Given the description of an element on the screen output the (x, y) to click on. 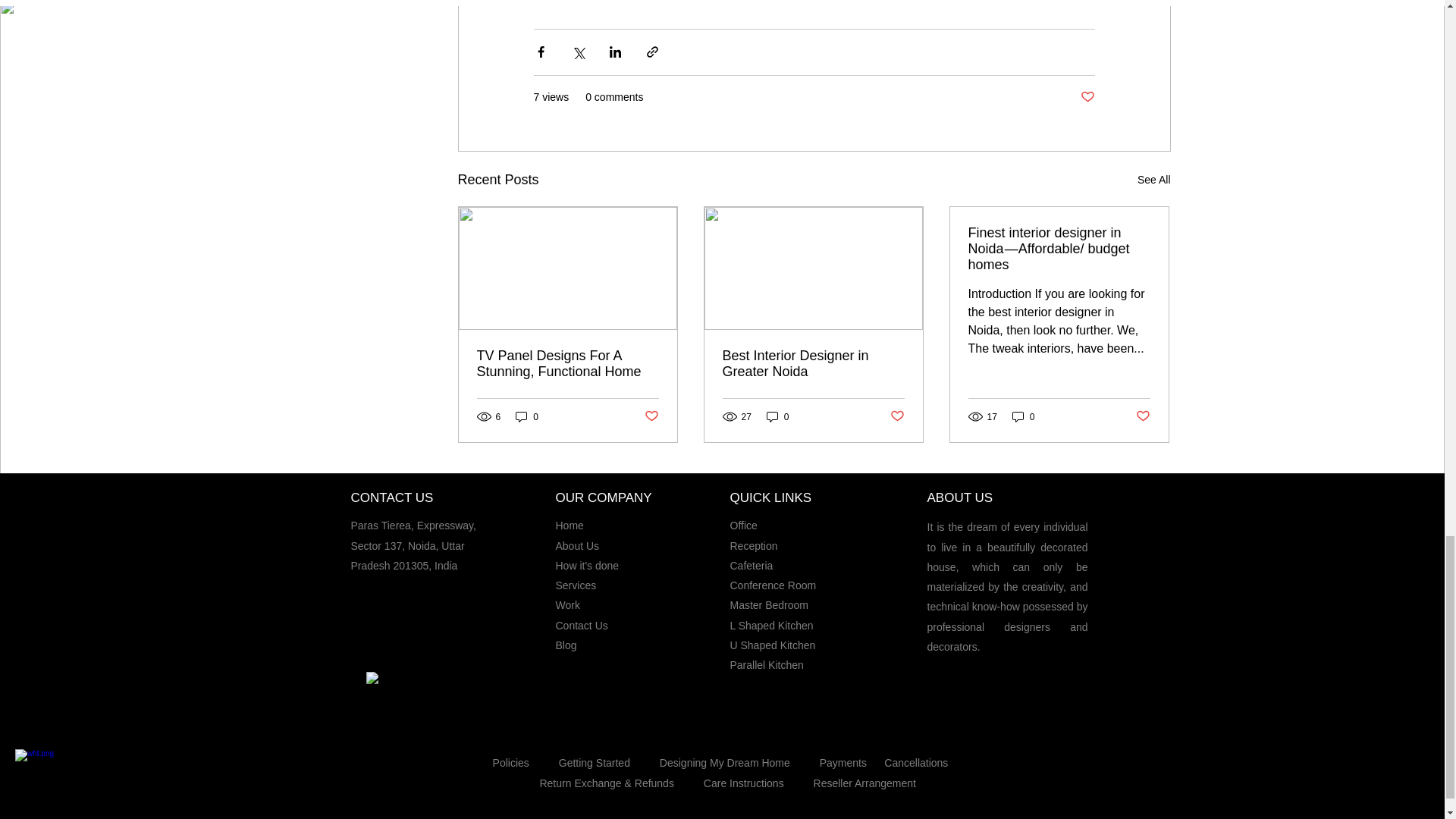
Post not marked as liked (896, 416)
0 (526, 416)
living room interior design companies in Noida (652, 2)
See All (1153, 179)
0 (777, 416)
0 (1023, 416)
Post not marked as liked (652, 416)
Best Interior Designer in Greater Noida (813, 364)
Post not marked as liked (1142, 416)
TV Panel Designs For A Stunning, Functional Home (567, 364)
